Given the description of an element on the screen output the (x, y) to click on. 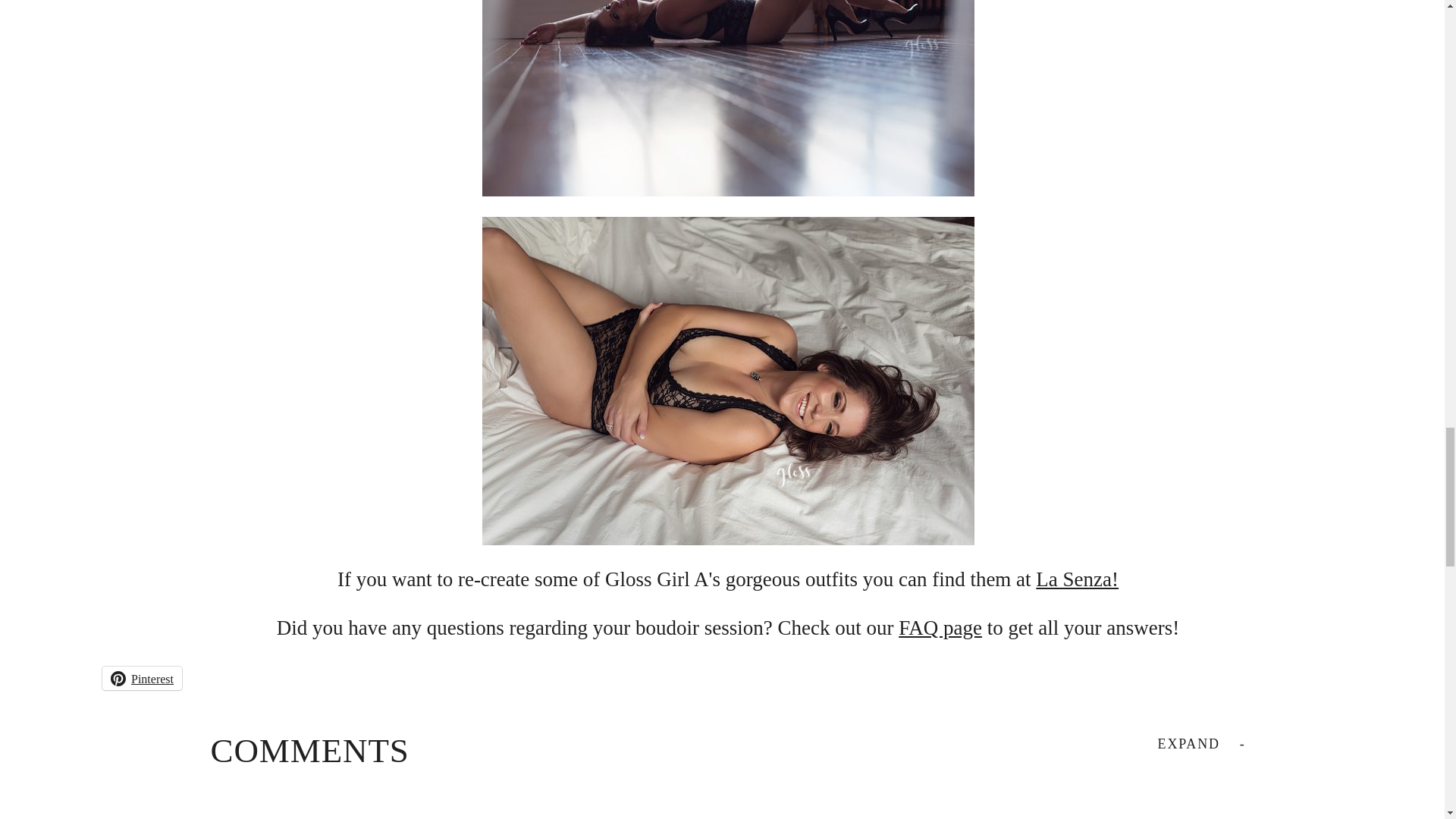
La Senza! (1076, 579)
FAQ page (939, 627)
Pinterest (141, 678)
